Given the description of an element on the screen output the (x, y) to click on. 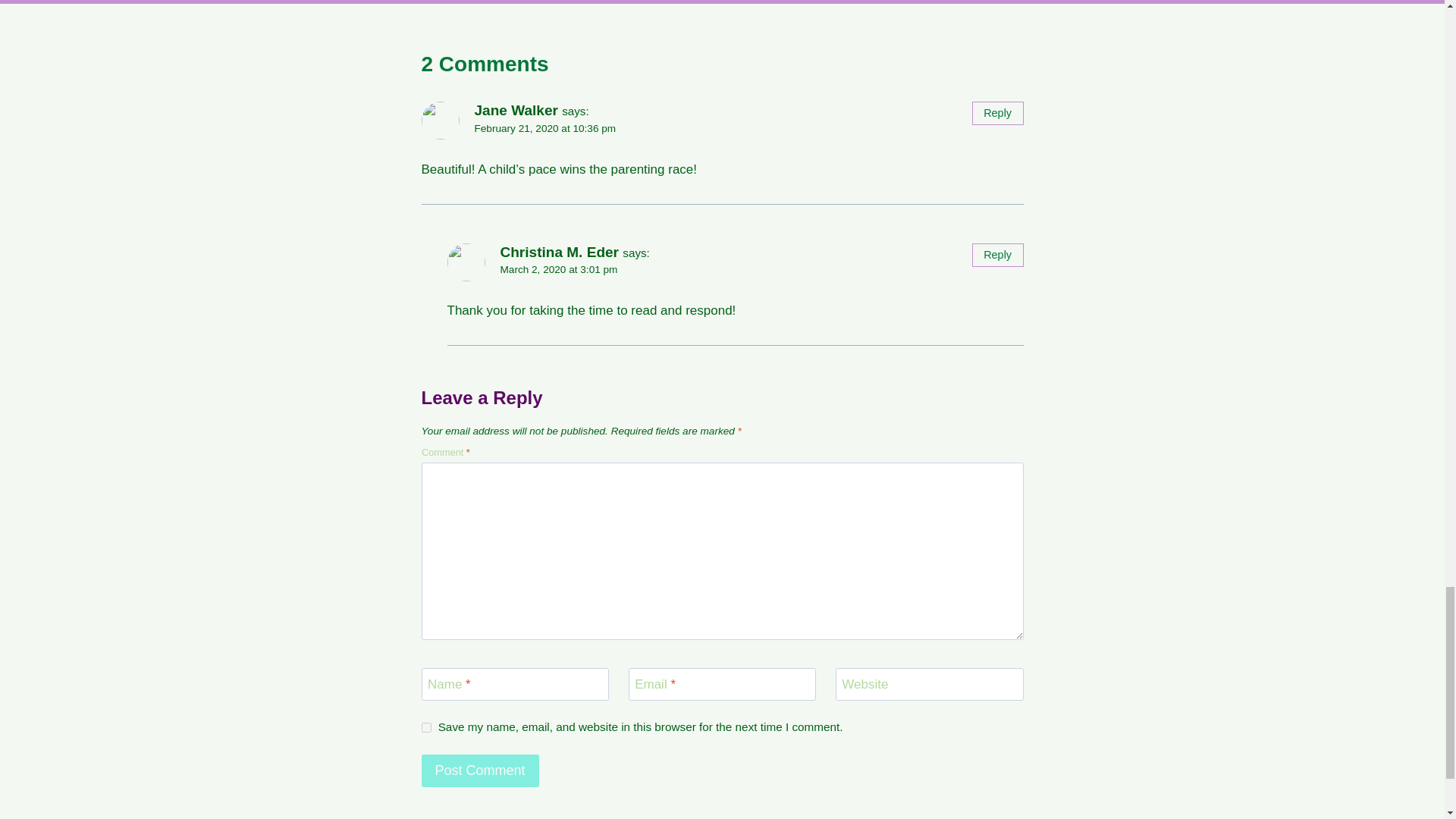
yes (426, 727)
Post Comment (480, 770)
